Given the description of an element on the screen output the (x, y) to click on. 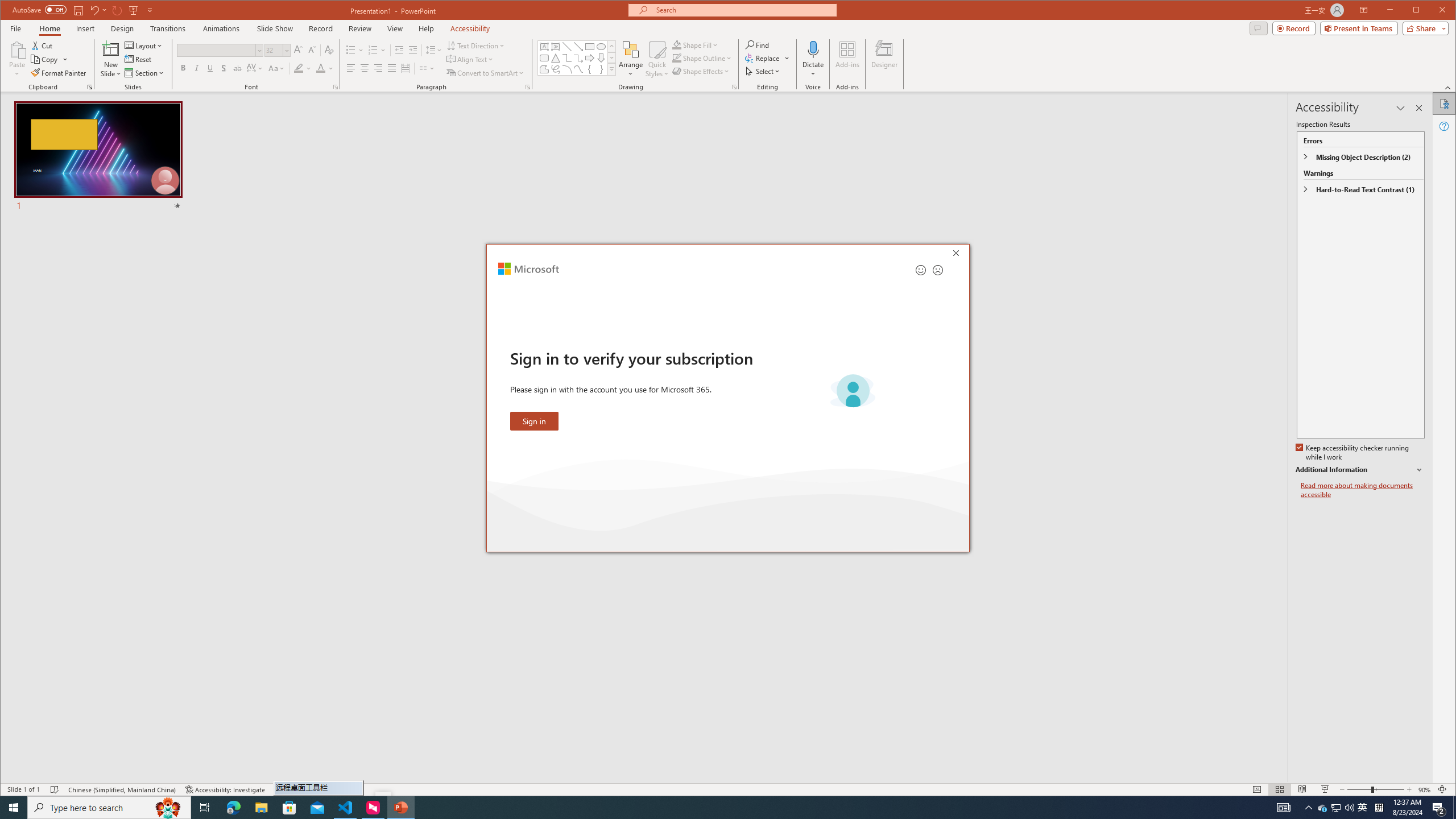
Read more about making documents accessible (1362, 489)
